Given the description of an element on the screen output the (x, y) to click on. 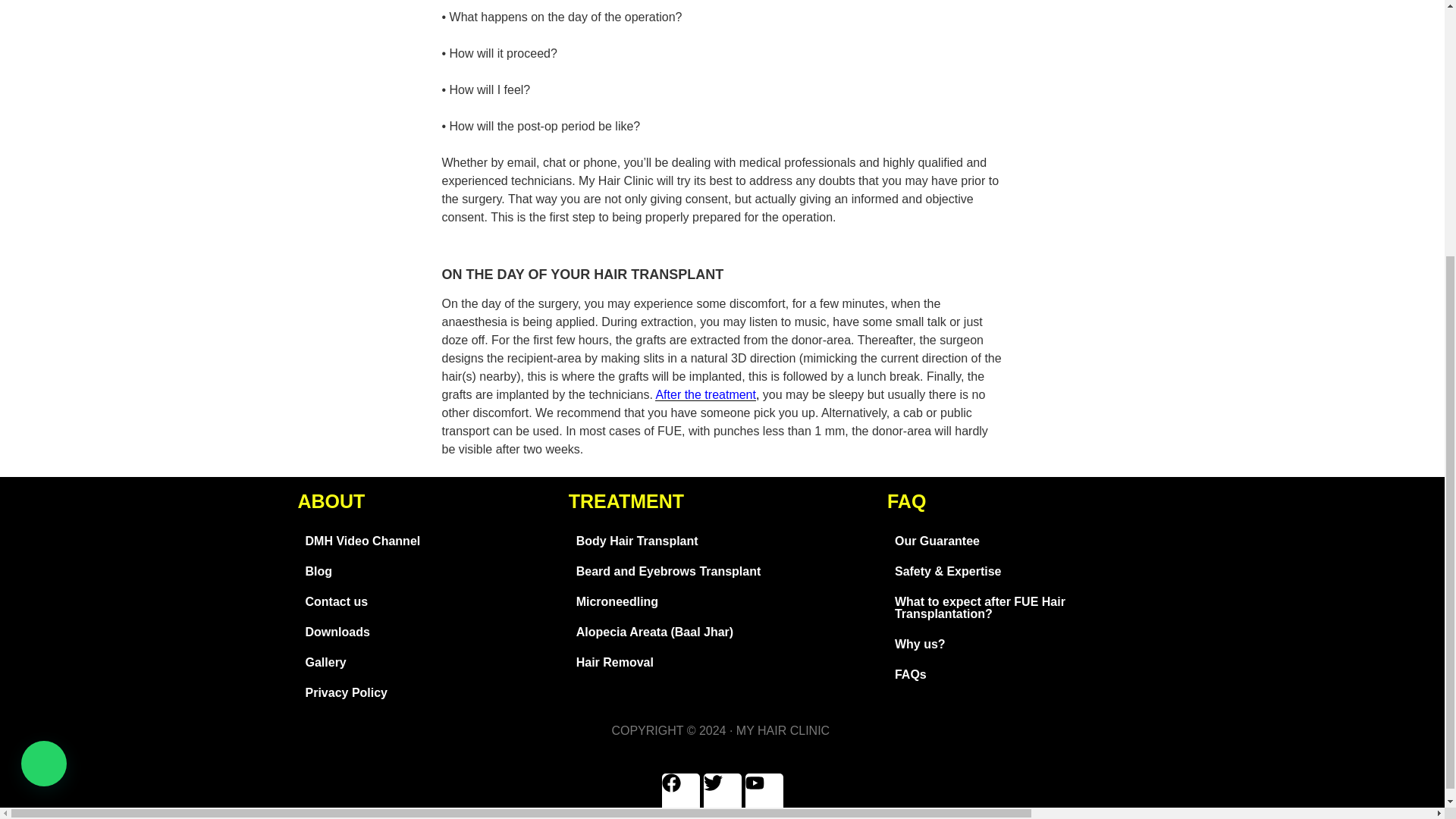
Privacy Policy (425, 693)
Microneedling (720, 602)
Hair Removal (720, 662)
Contact us (425, 602)
DMH Video Channel (425, 541)
Downloads (425, 632)
Beard and Eyebrows Transplant (720, 571)
Our Guarantee (986, 541)
Gallery (425, 662)
Body Hair Transplant (720, 541)
